Given the description of an element on the screen output the (x, y) to click on. 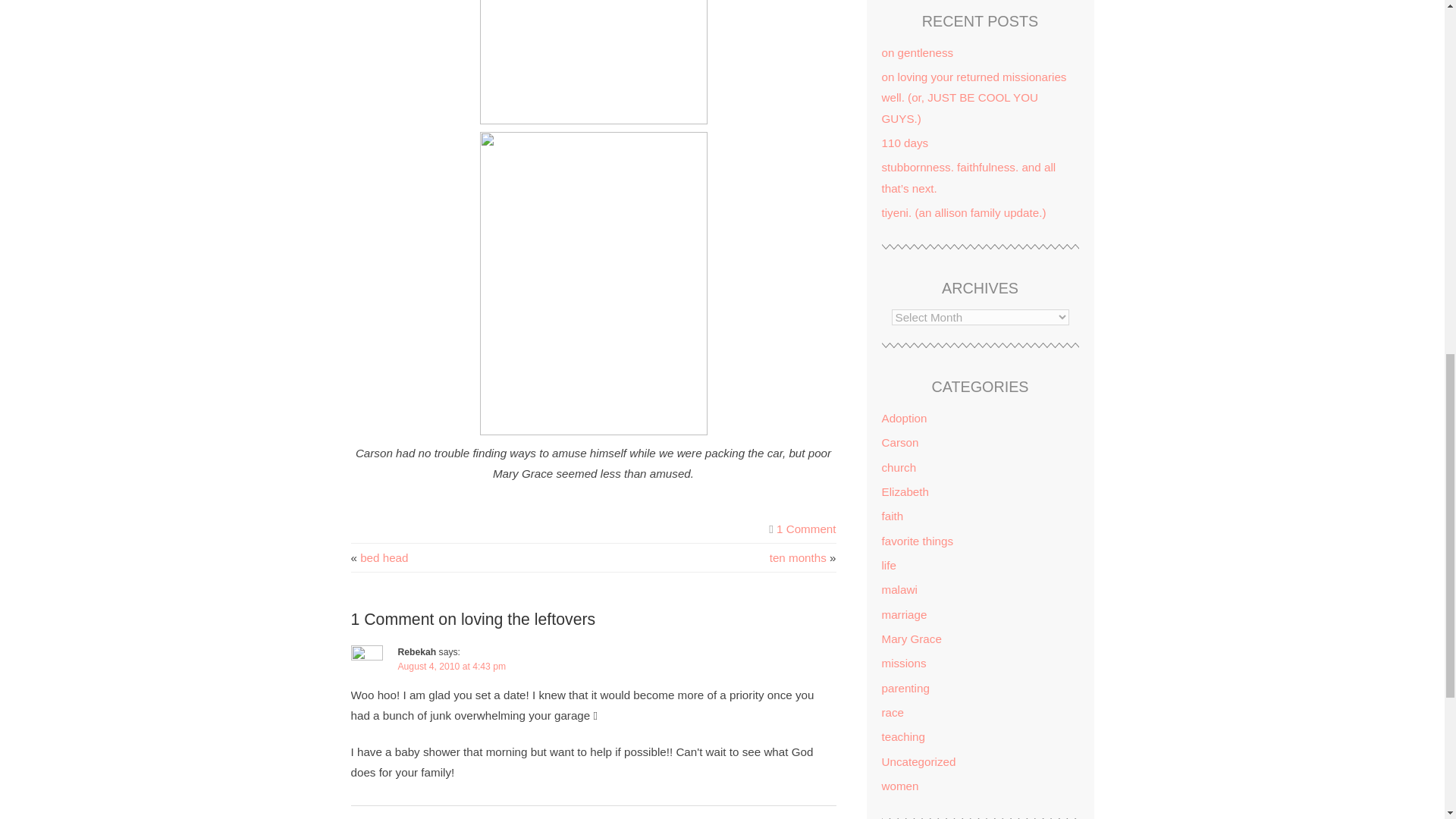
Uncategorized (917, 761)
marriage (903, 614)
Elizabeth (904, 491)
on gentleness (916, 51)
110 days (904, 142)
ten months (798, 557)
faith (891, 515)
church (897, 467)
Carson (899, 441)
parenting (904, 687)
